Given the description of an element on the screen output the (x, y) to click on. 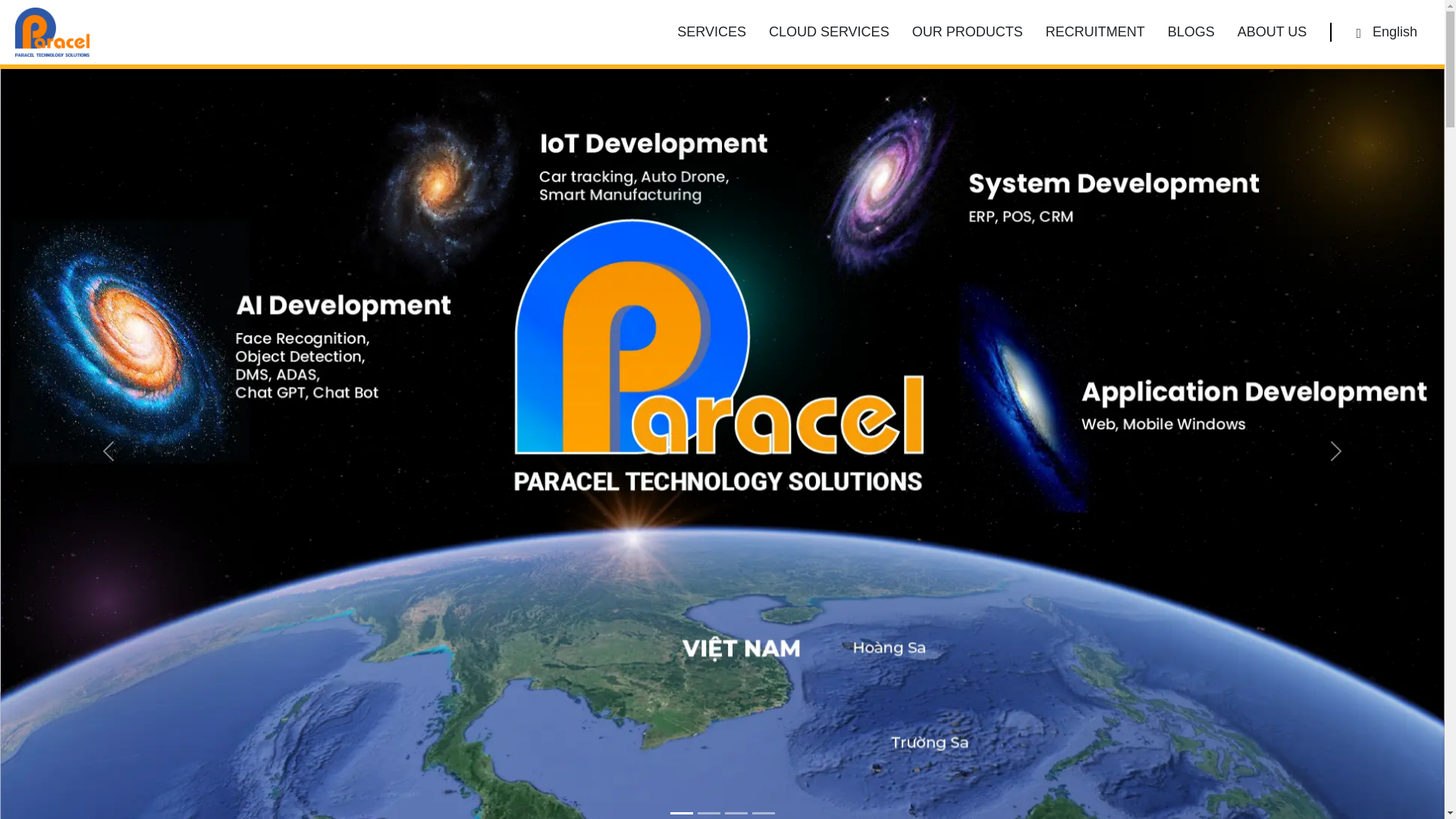
ABOUT US (1272, 32)
BLOGS (1190, 32)
RECRUITMENT (1094, 32)
English (1386, 32)
OUR PRODUCTS (967, 32)
Paracel Technology Solutions (51, 31)
CLOUD SERVICES (829, 32)
SERVICES (711, 32)
